Given the description of an element on the screen output the (x, y) to click on. 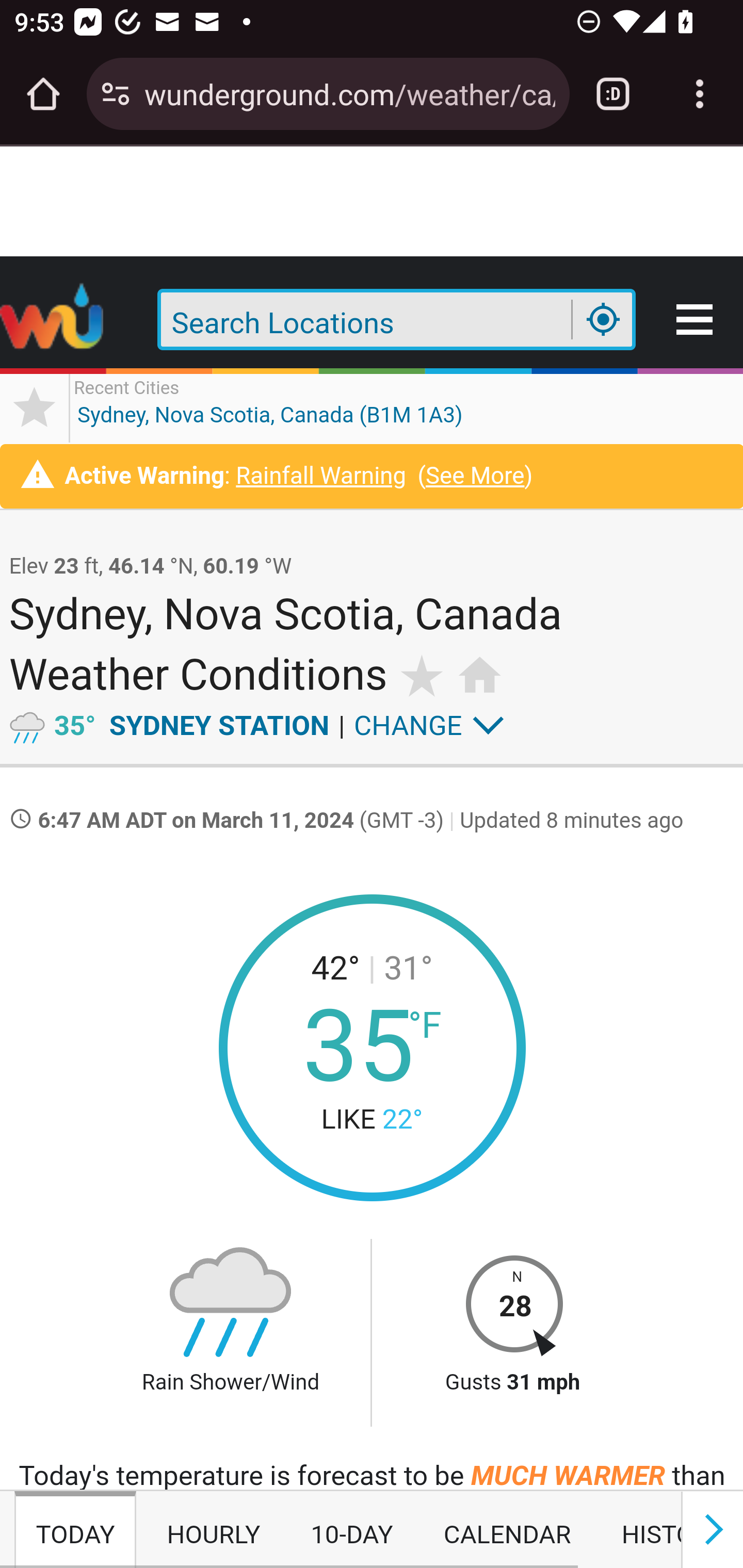
Open the home page (43, 93)
Connection is secure (115, 93)
Switch or close tabs (612, 93)
Customize and control Google Chrome (699, 93)
wunderground.com/weather/ca/sydney (349, 92)
Weather Underground Logo _ (52, 320)
Menu (695, 320)
Manage Favorites star (34, 407)
Sydney, Nova Scotia, Canada (B1M 1A3) (269, 407)
Rainfall Warning (320, 476)
See More (474, 476)
35°  SYDNEY STATION 35 °    SYDNEY STATION (191, 724)
CHANGE (407, 724)
TODAY (75, 1529)
HOURLY (213, 1529)
10-DAY (351, 1529)
CALENDAR (507, 1529)
